Given the description of an element on the screen output the (x, y) to click on. 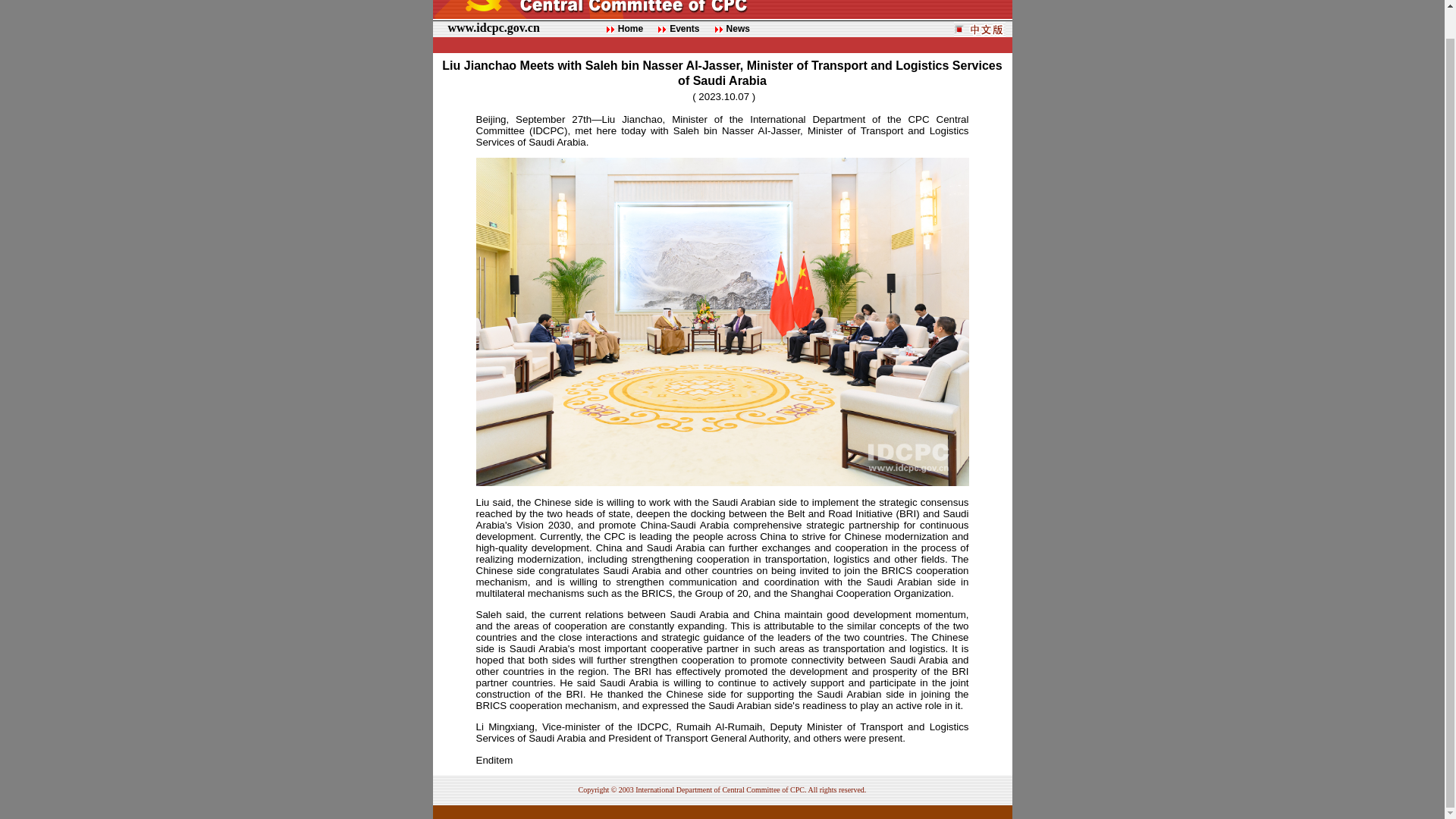
Events (683, 28)
News (737, 28)
Home (630, 28)
